Given the description of an element on the screen output the (x, y) to click on. 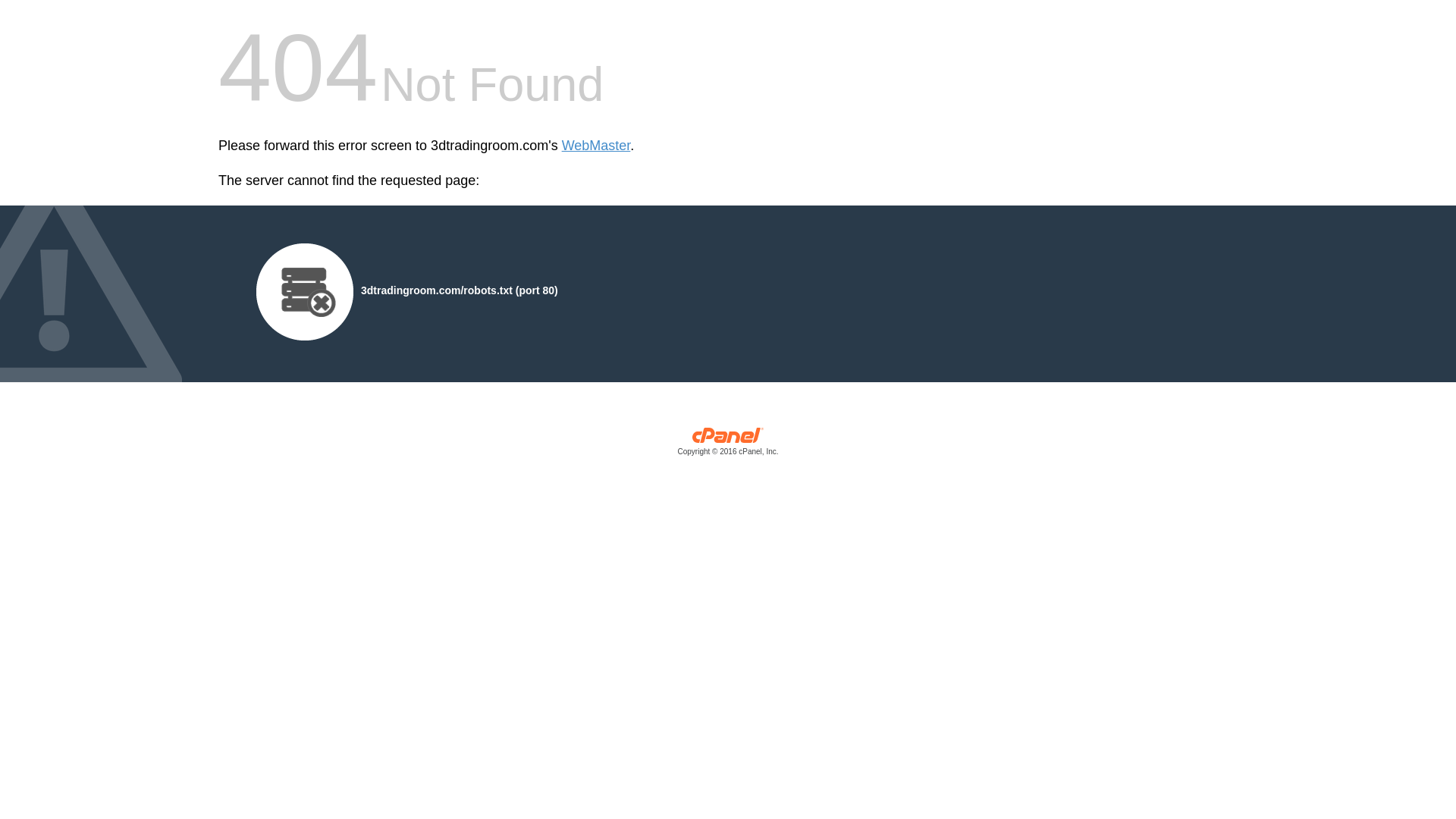
WebMaster Element type: text (595, 145)
